Given the description of an element on the screen output the (x, y) to click on. 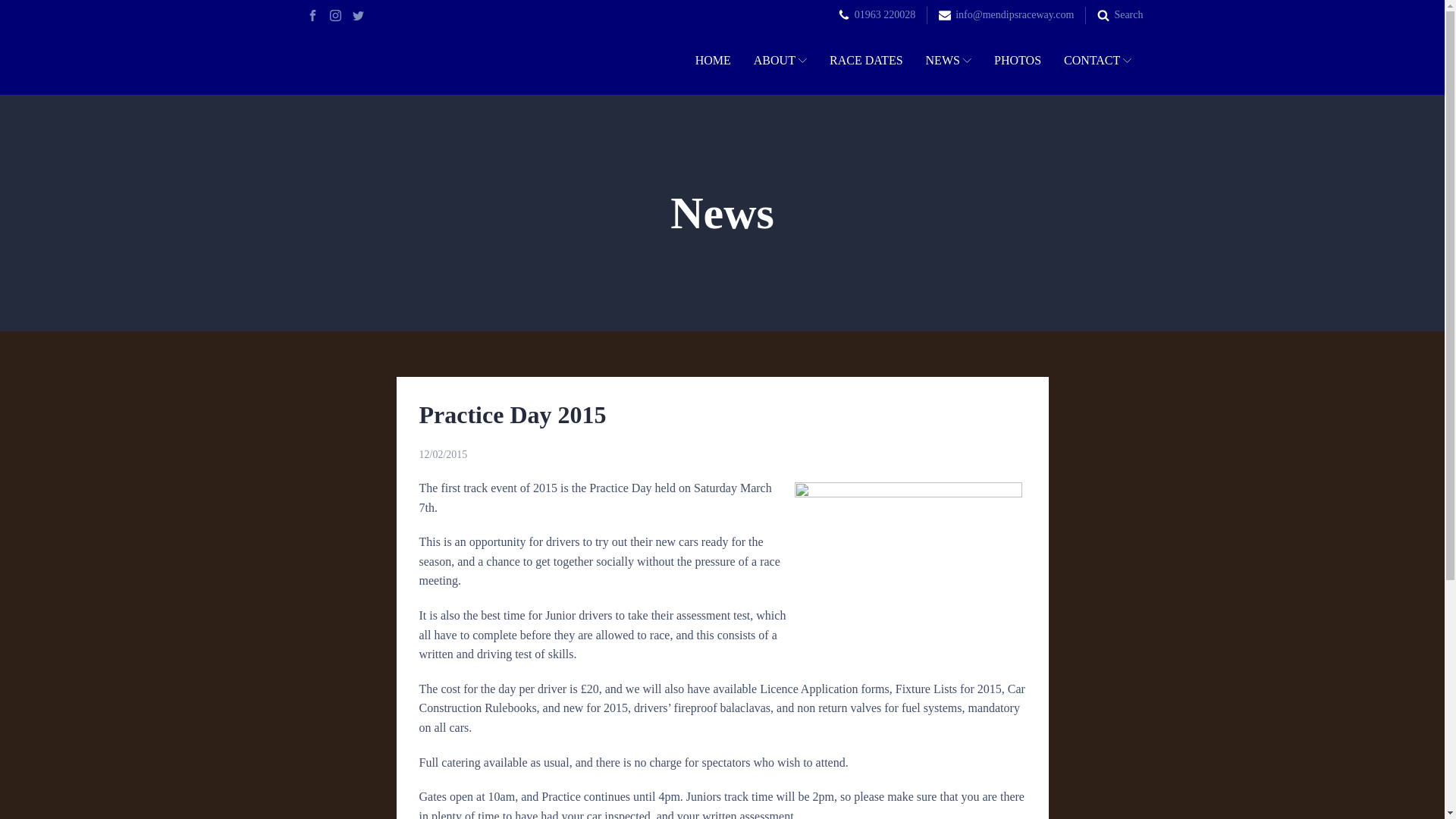
Search (1127, 14)
ABOUT (780, 60)
CONTACT (1097, 60)
PHOTOS (1017, 60)
RACE DATES (866, 60)
01963 220028 (884, 14)
NEWS (949, 60)
HOME (713, 60)
